Given the description of an element on the screen output the (x, y) to click on. 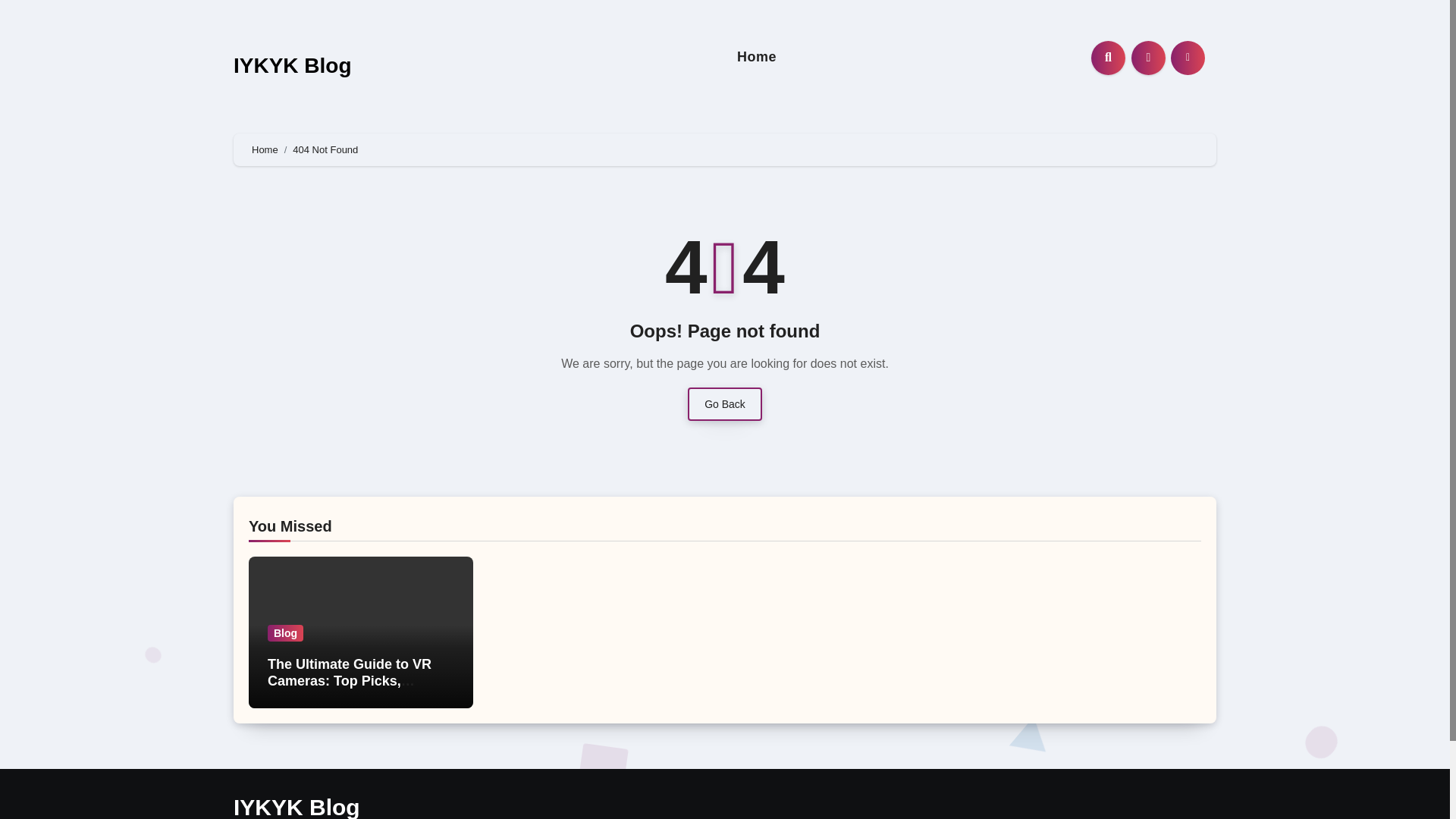
Go Back (724, 403)
IYKYK Blog (295, 806)
IYKYK Blog (292, 65)
Home (756, 57)
Home (756, 57)
Blog (284, 632)
Home (264, 149)
